Given the description of an element on the screen output the (x, y) to click on. 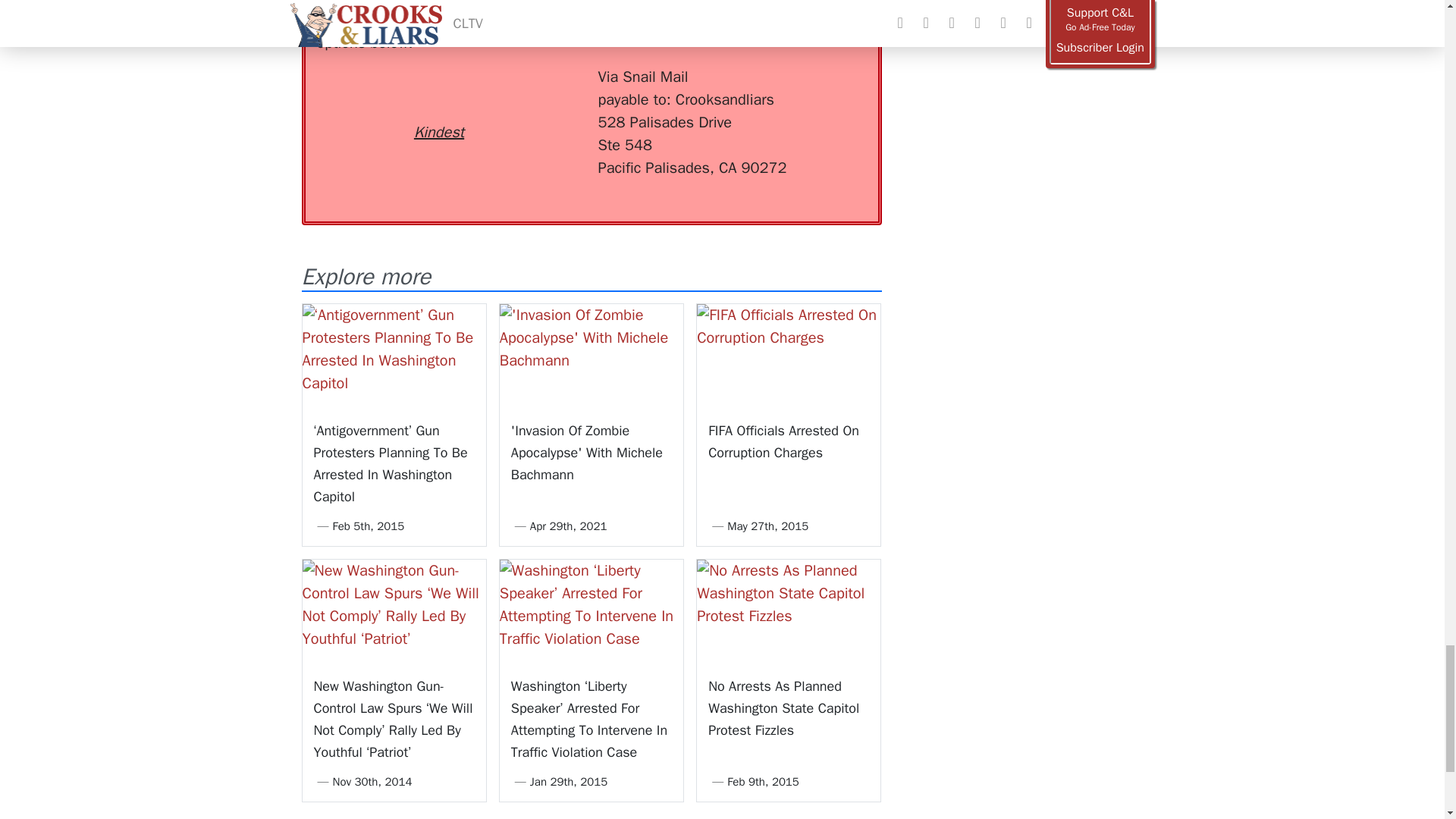
Donate via PayPal (540, 93)
Donate via Kindest (438, 105)
